Given the description of an element on the screen output the (x, y) to click on. 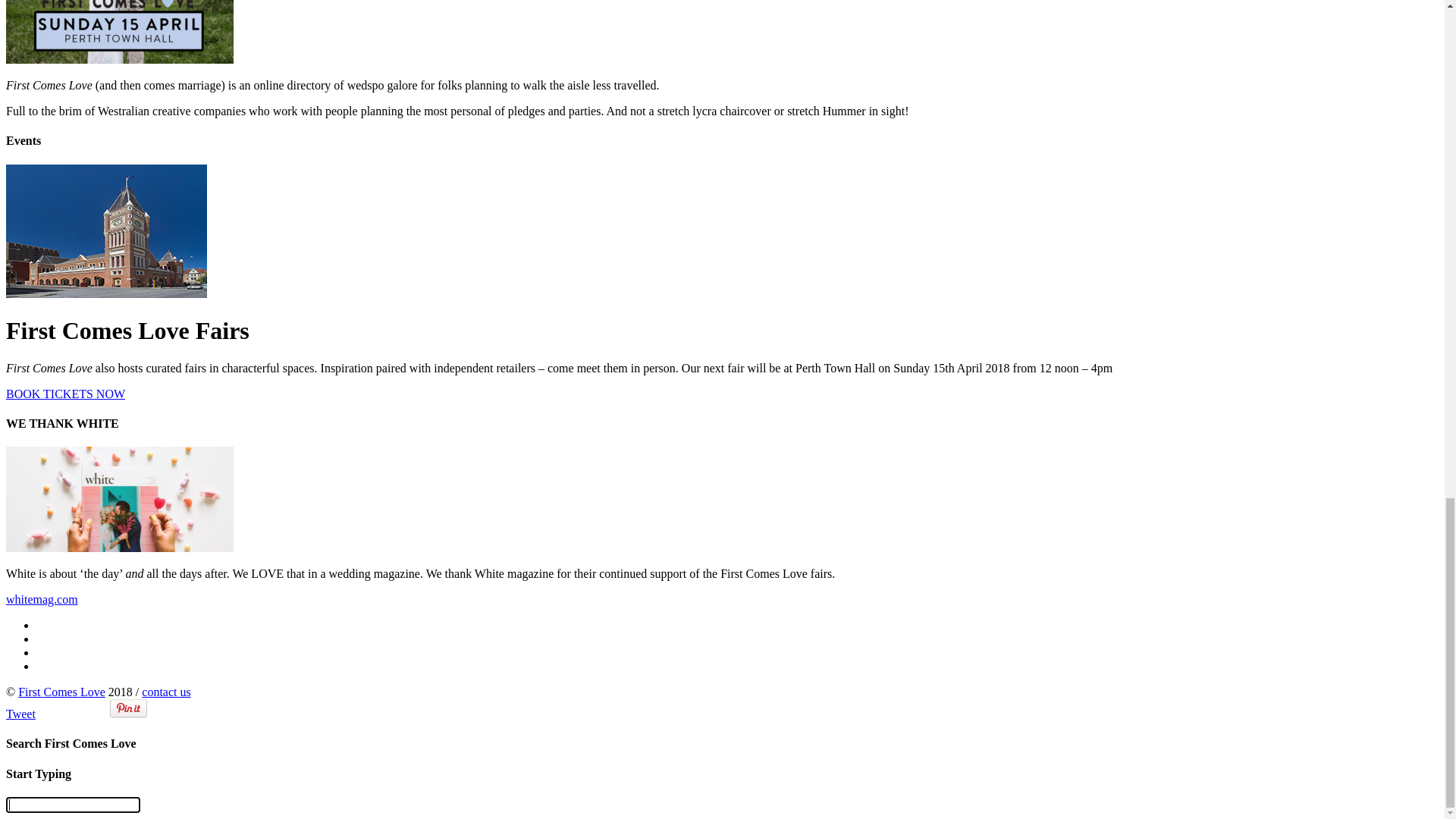
Past Events Element type: text (64, 45)
First Comes Love Element type: hover (297, 558)
About Element type: text (51, 806)
Skip to content Element type: text (42, 739)
About Element type: text (51, 59)
The Directory Element type: text (70, 18)
Next Events Element type: text (66, 31)
Subscribe Element type: text (90, 86)
Past Events Element type: text (64, 792)
Next Events Element type: text (66, 778)
The Directory Element type: text (70, 765)
First Comes Love Element type: hover (297, 341)
Blog Element type: text (47, 100)
Contact Element type: text (55, 72)
